Given the description of an element on the screen output the (x, y) to click on. 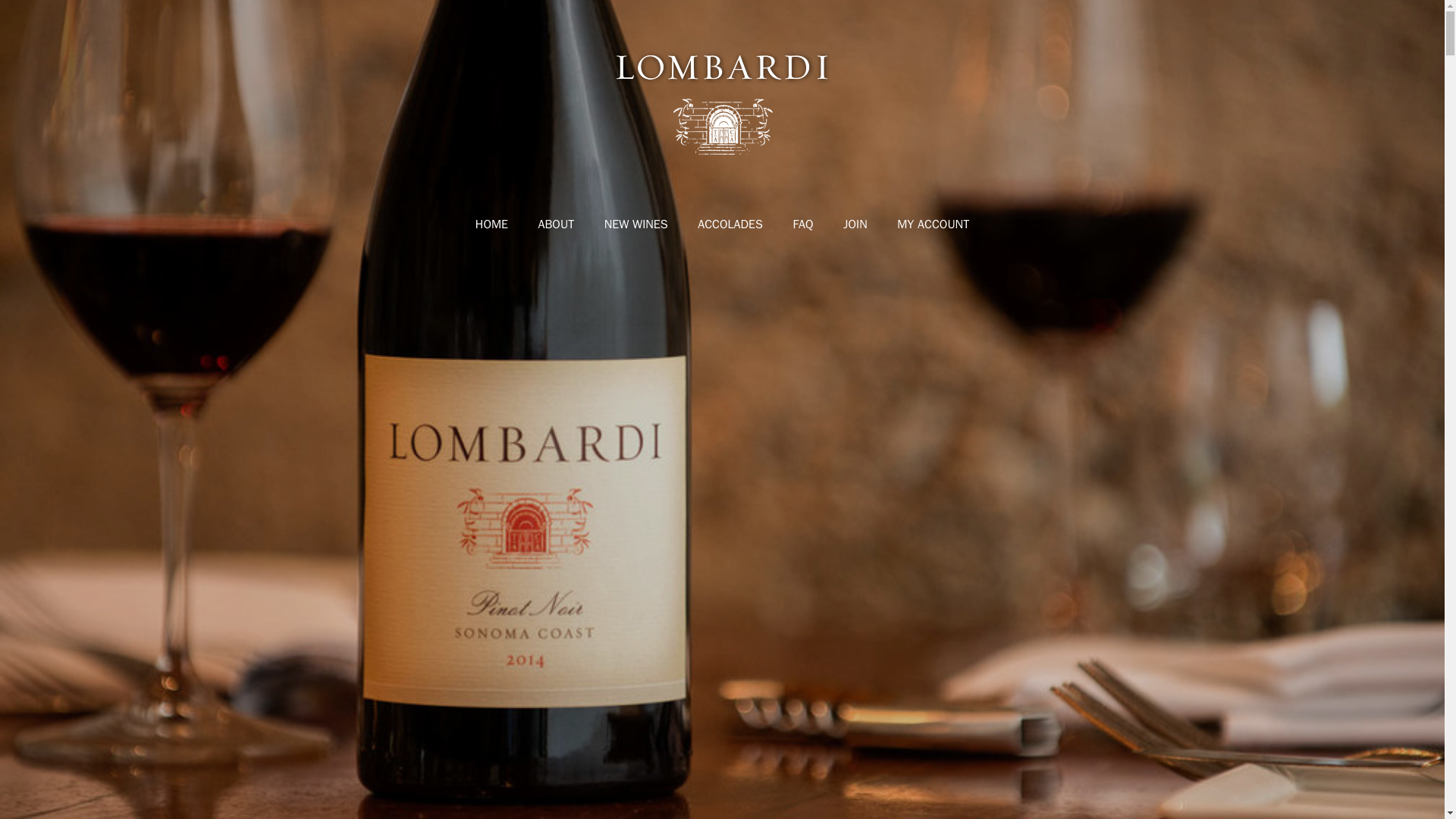
ABOUT (556, 225)
NEW WINES (636, 225)
ACCOLADES (730, 225)
FAQ (802, 225)
ABOUT (556, 225)
NEW WINES (636, 225)
ACCOLADES (730, 225)
FAQ (802, 225)
JOIN (854, 225)
MY ACCOUNT (932, 225)
